Given the description of an element on the screen output the (x, y) to click on. 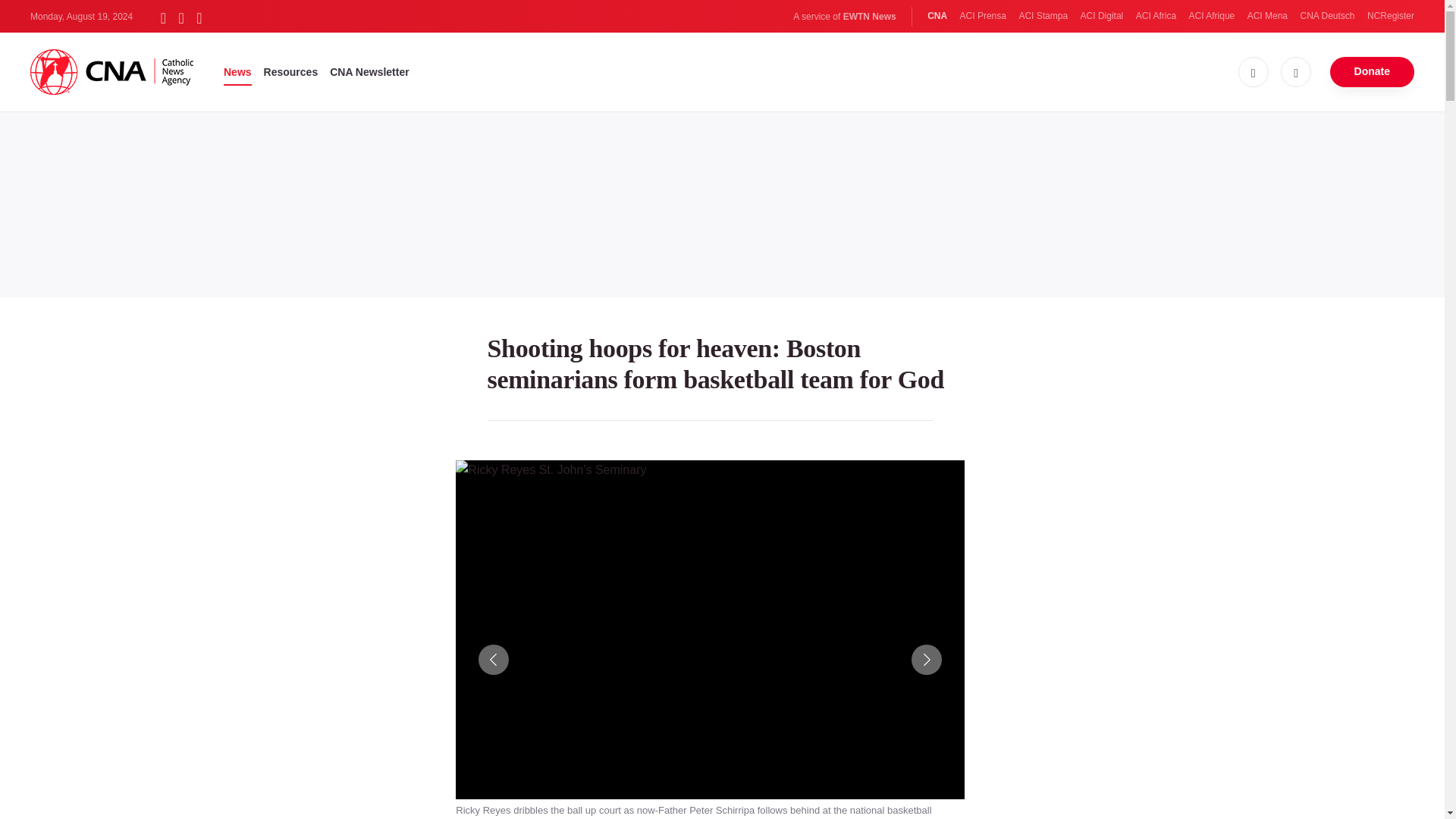
Resources (290, 71)
NCRegister (1390, 16)
ACI Prensa (982, 16)
CNA (937, 16)
ACI Africa (1155, 16)
ACI Digital (1102, 16)
News (237, 71)
CNA Deutsch (1327, 16)
EWTN News (869, 16)
EWTN News (869, 16)
